Given the description of an element on the screen output the (x, y) to click on. 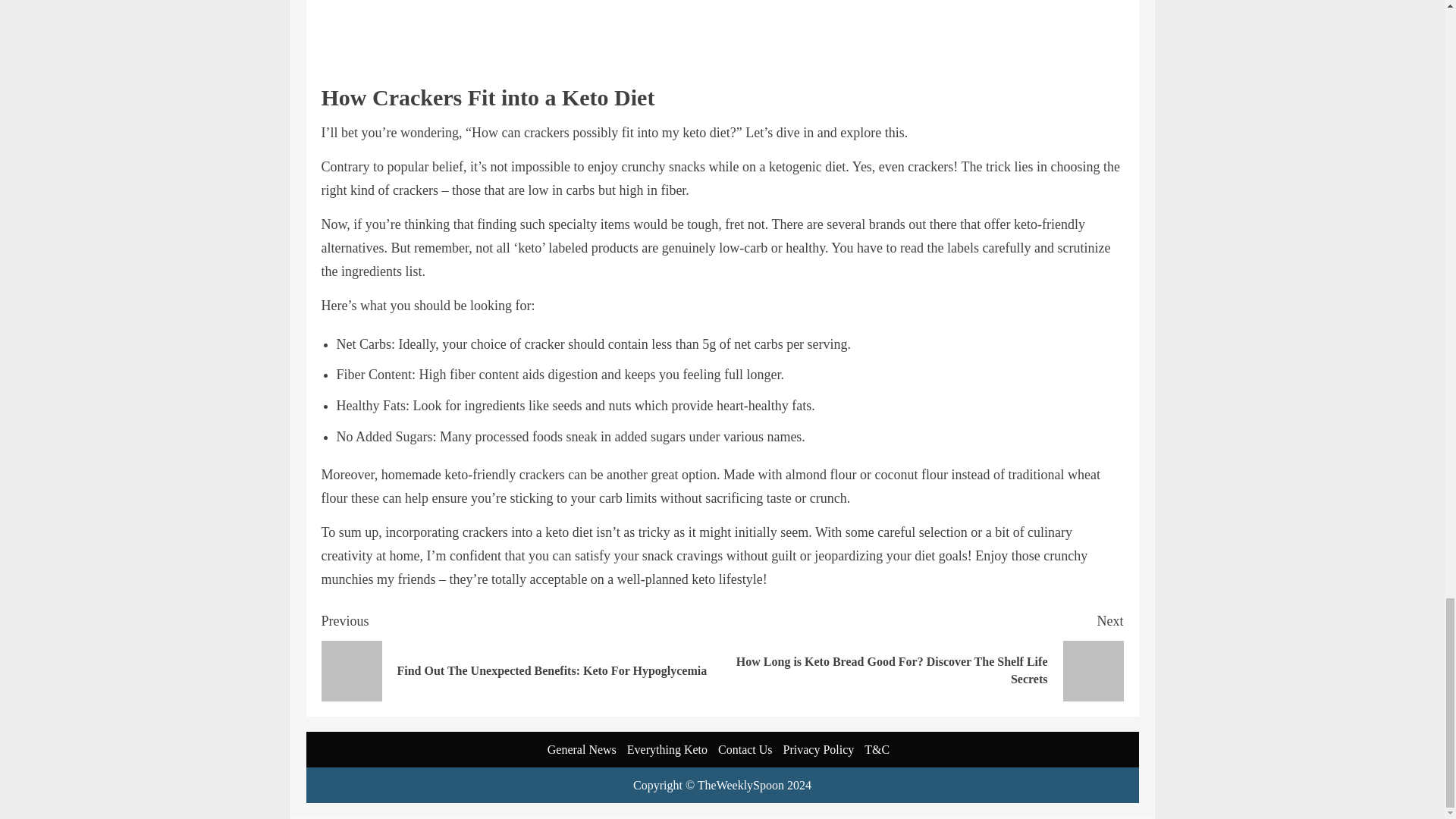
Contact Us (745, 748)
General News (581, 748)
Privacy Policy (818, 748)
Everything Keto (667, 748)
